Given the description of an element on the screen output the (x, y) to click on. 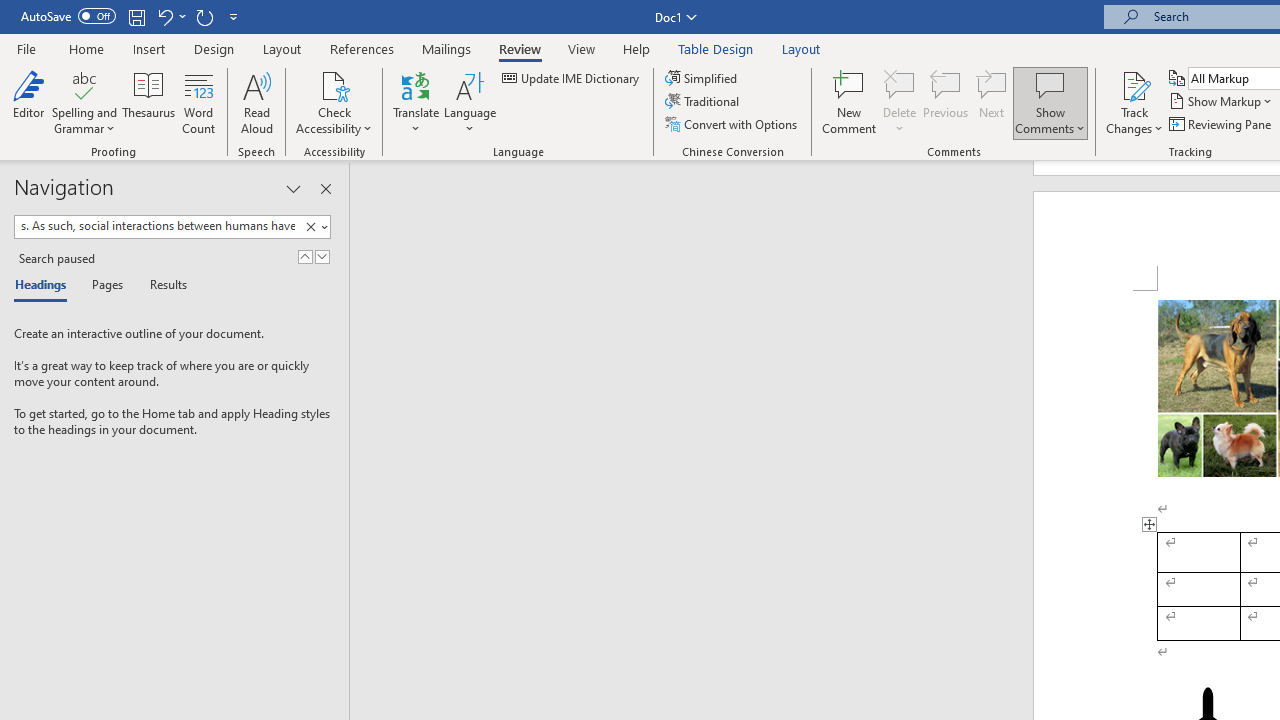
Next (991, 102)
Insert (149, 48)
Results (161, 285)
Spelling and Grammar (84, 84)
Convert with Options... (732, 124)
Undo Style (170, 15)
Search document (157, 226)
Pages (105, 285)
Update IME Dictionary... (572, 78)
